Given the description of an element on the screen output the (x, y) to click on. 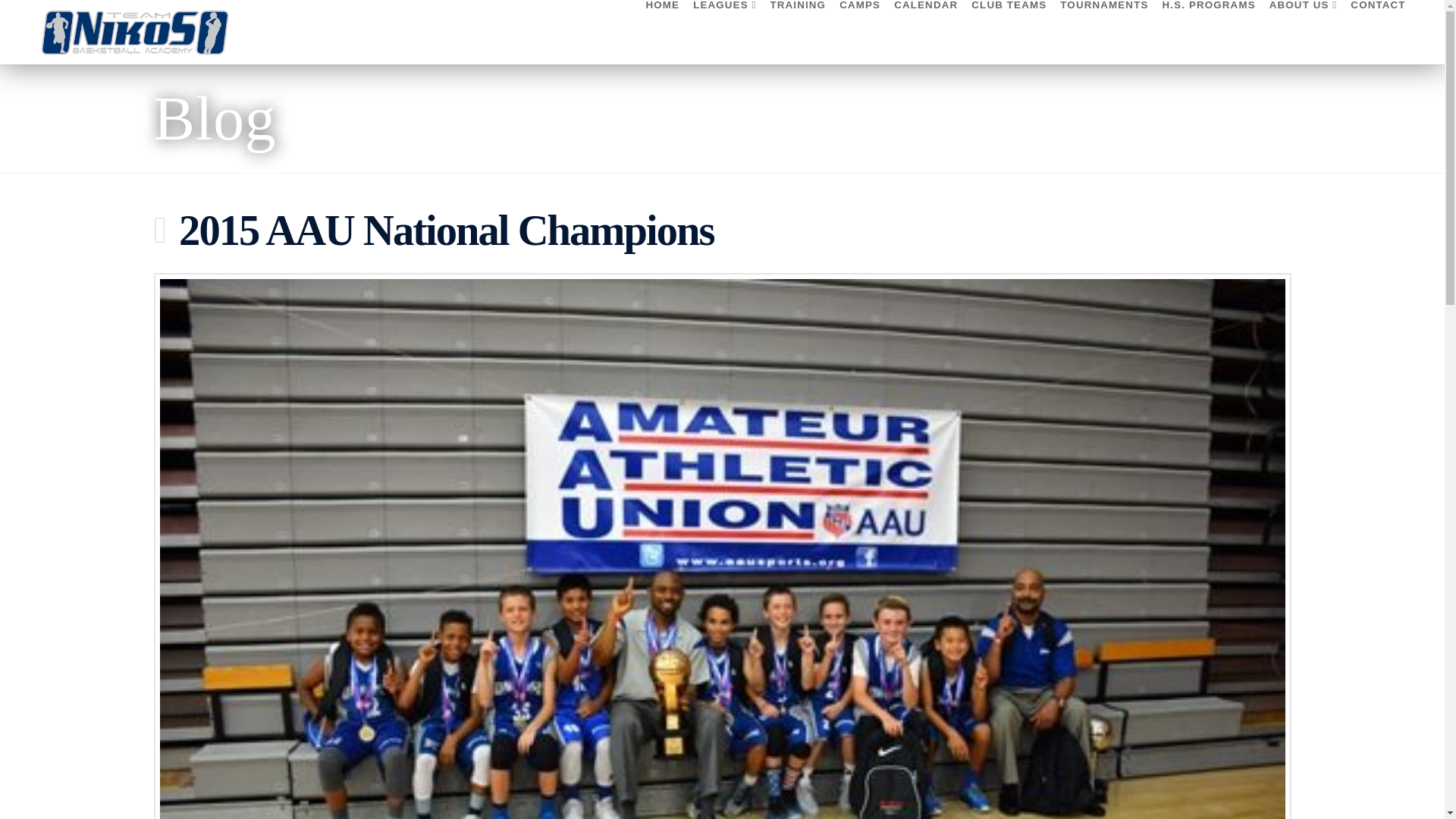
ABOUT US (1302, 32)
H.S. PROGRAMS (1208, 32)
TRAINING (797, 32)
CLUB TEAMS (1007, 32)
CALENDAR (924, 32)
TOURNAMENTS (1103, 32)
LEAGUES (723, 32)
CONTACT (1374, 32)
